Given the description of an element on the screen output the (x, y) to click on. 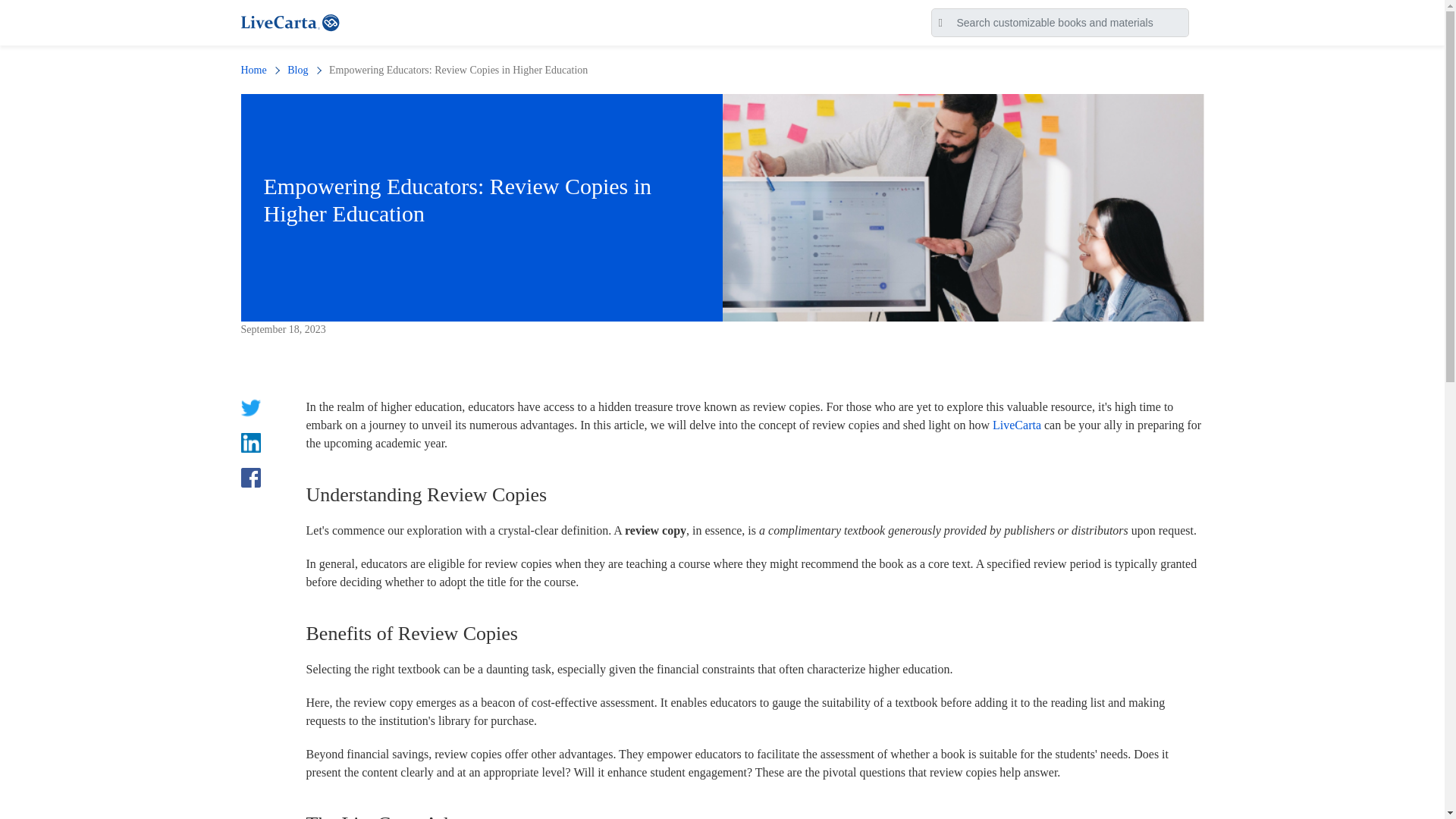
Logo (288, 21)
Blog (296, 70)
Home (253, 70)
LiveCarta (1016, 424)
